Given the description of an element on the screen output the (x, y) to click on. 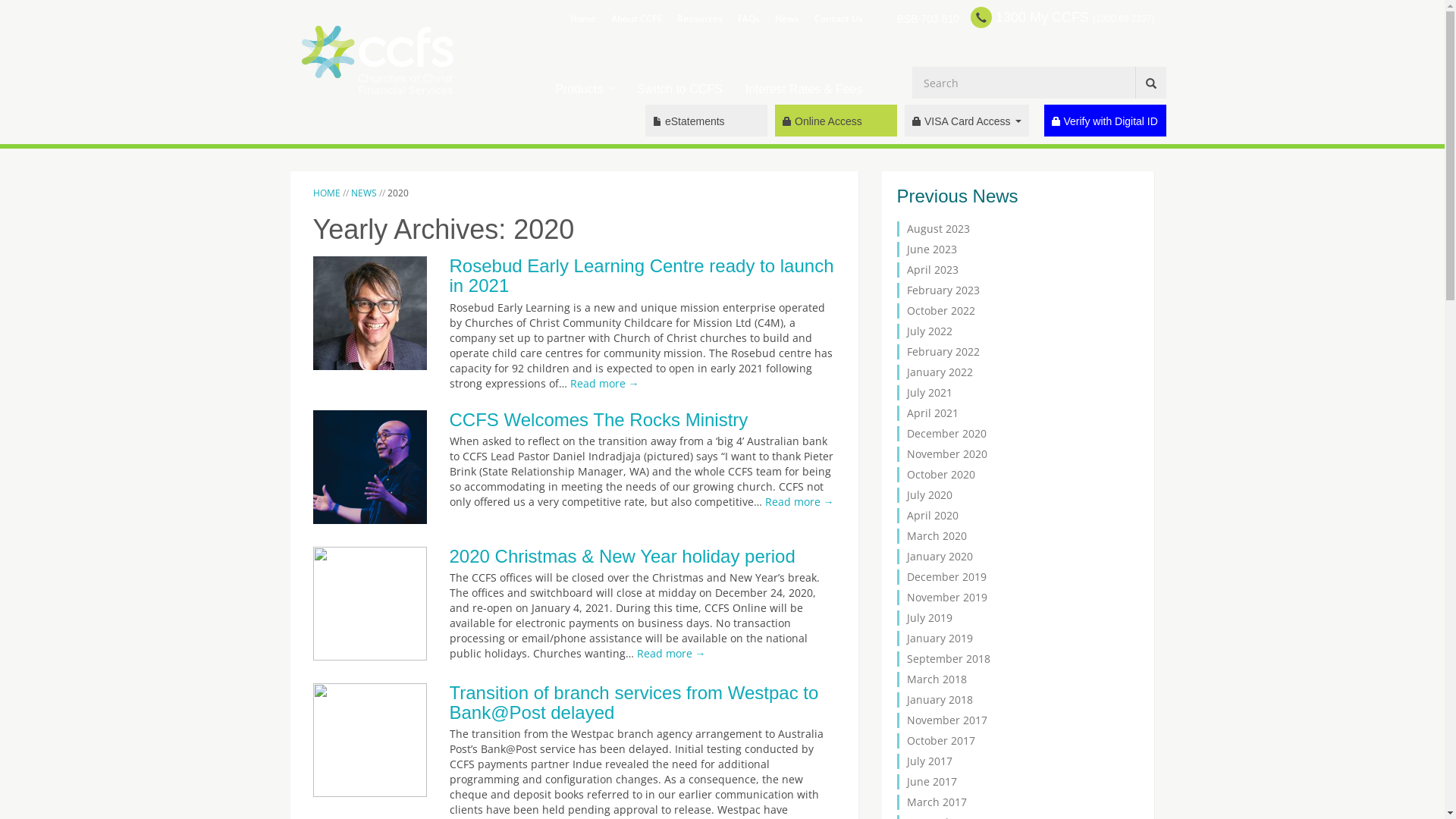
January 2022 Element type: text (939, 371)
Switch to CCFS Element type: text (679, 88)
CCFS Welcomes The Rocks Ministry Element type: text (597, 419)
Home Element type: text (582, 16)
February 2023 Element type: text (942, 289)
April 2023 Element type: text (932, 269)
News Element type: text (786, 16)
January 2019 Element type: text (939, 637)
Interest Rates & Fees Element type: text (804, 88)
July 2022 Element type: text (929, 330)
June 2017 Element type: text (931, 781)
July 2017 Element type: text (929, 760)
NEWS Element type: text (363, 192)
June 2023 Element type: text (931, 248)
eStatements Element type: text (706, 120)
2020 Christmas & New Year holiday period Element type: text (621, 556)
July 2019 Element type: text (929, 617)
Rosebud Early Learning Centre ready to launch in 2021 Element type: text (640, 275)
HOME Element type: text (327, 192)
November 2020 Element type: text (946, 453)
December 2019 Element type: text (946, 576)
1300 My CCFS (1300 69 2237) Element type: text (1061, 16)
April 2020 Element type: text (932, 515)
October 2020 Element type: text (940, 474)
April 2021 Element type: text (932, 412)
FAQs Element type: text (747, 16)
VISA Card Access Element type: text (966, 120)
January 2020 Element type: text (939, 556)
February 2022 Element type: text (942, 351)
About CCFS Element type: text (636, 16)
Resources Element type: text (698, 16)
August 2023 Element type: text (937, 228)
March 2018 Element type: text (936, 678)
January 2018 Element type: text (939, 699)
December 2020 Element type: text (946, 433)
Online Access Element type: text (836, 120)
September 2018 Element type: text (948, 658)
Products Element type: text (584, 88)
March 2020 Element type: text (936, 535)
October 2017 Element type: text (940, 740)
Verify with Digital ID Element type: text (1104, 120)
March 2017 Element type: text (936, 801)
July 2021 Element type: text (929, 392)
November 2019 Element type: text (946, 596)
October 2022 Element type: text (940, 310)
Contact Us Element type: text (838, 16)
November 2017 Element type: text (946, 719)
July 2020 Element type: text (929, 494)
